Given the description of an element on the screen output the (x, y) to click on. 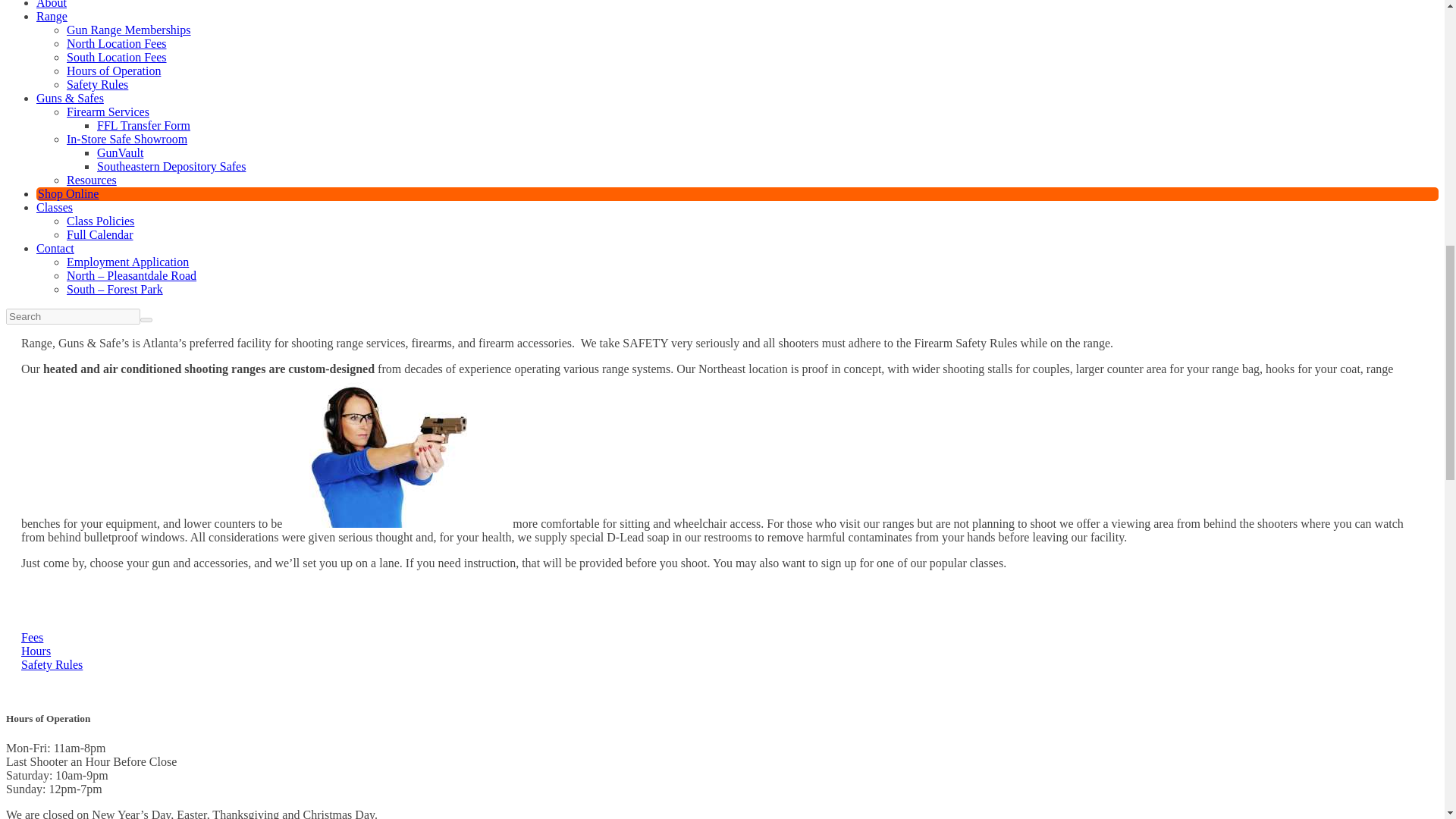
Gun Range Memberships (128, 29)
South Location Fees (116, 56)
Range (51, 15)
North Location Fees (116, 42)
Hours of Operation (113, 70)
About (51, 4)
